Given the description of an element on the screen output the (x, y) to click on. 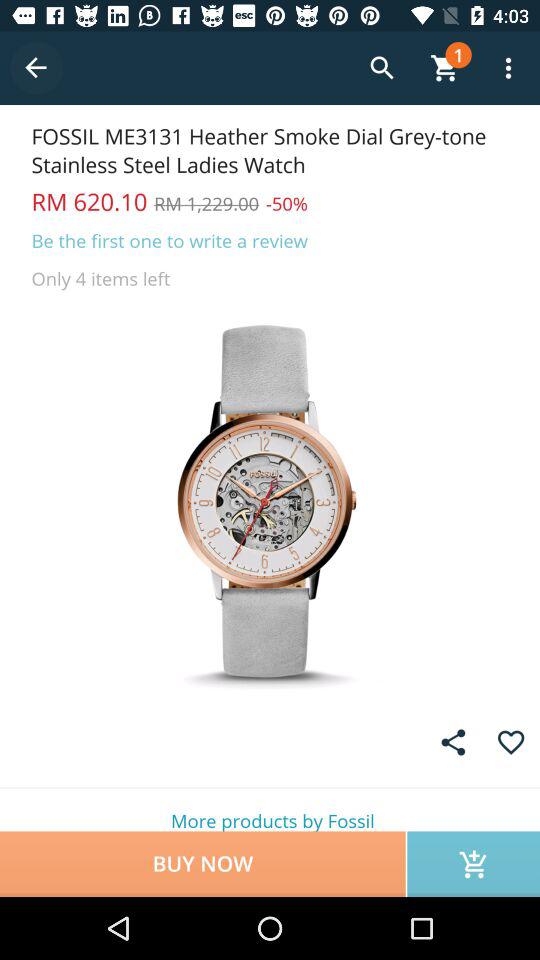
select watch (269, 500)
